Given the description of an element on the screen output the (x, y) to click on. 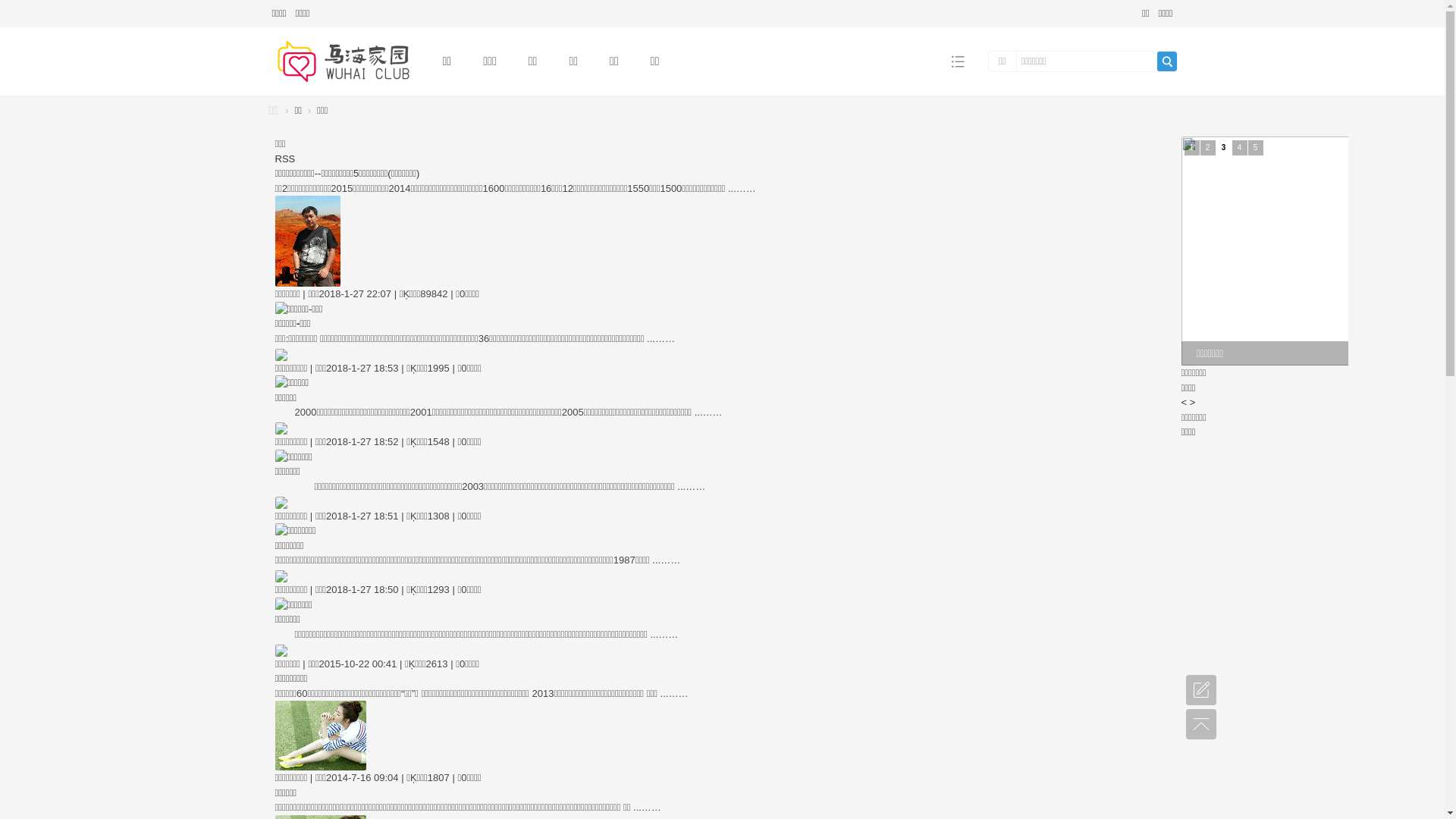
< Element type: text (1184, 401)
RSS Element type: text (284, 158)
> Element type: text (1192, 401)
true Element type: text (1166, 61)
